Given the description of an element on the screen output the (x, y) to click on. 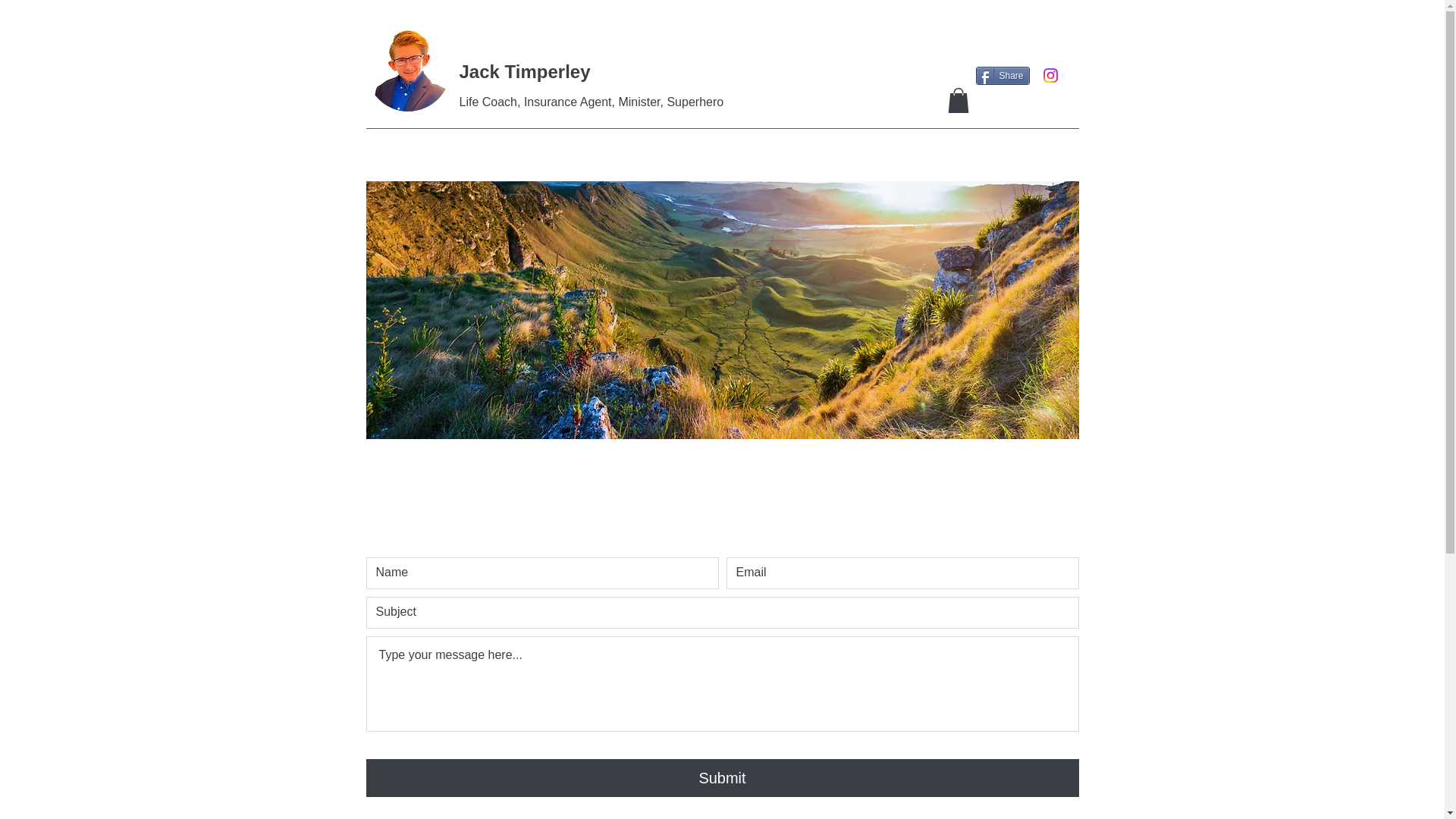
Share (1002, 75)
Submit (721, 777)
Share (1002, 75)
